Given the description of an element on the screen output the (x, y) to click on. 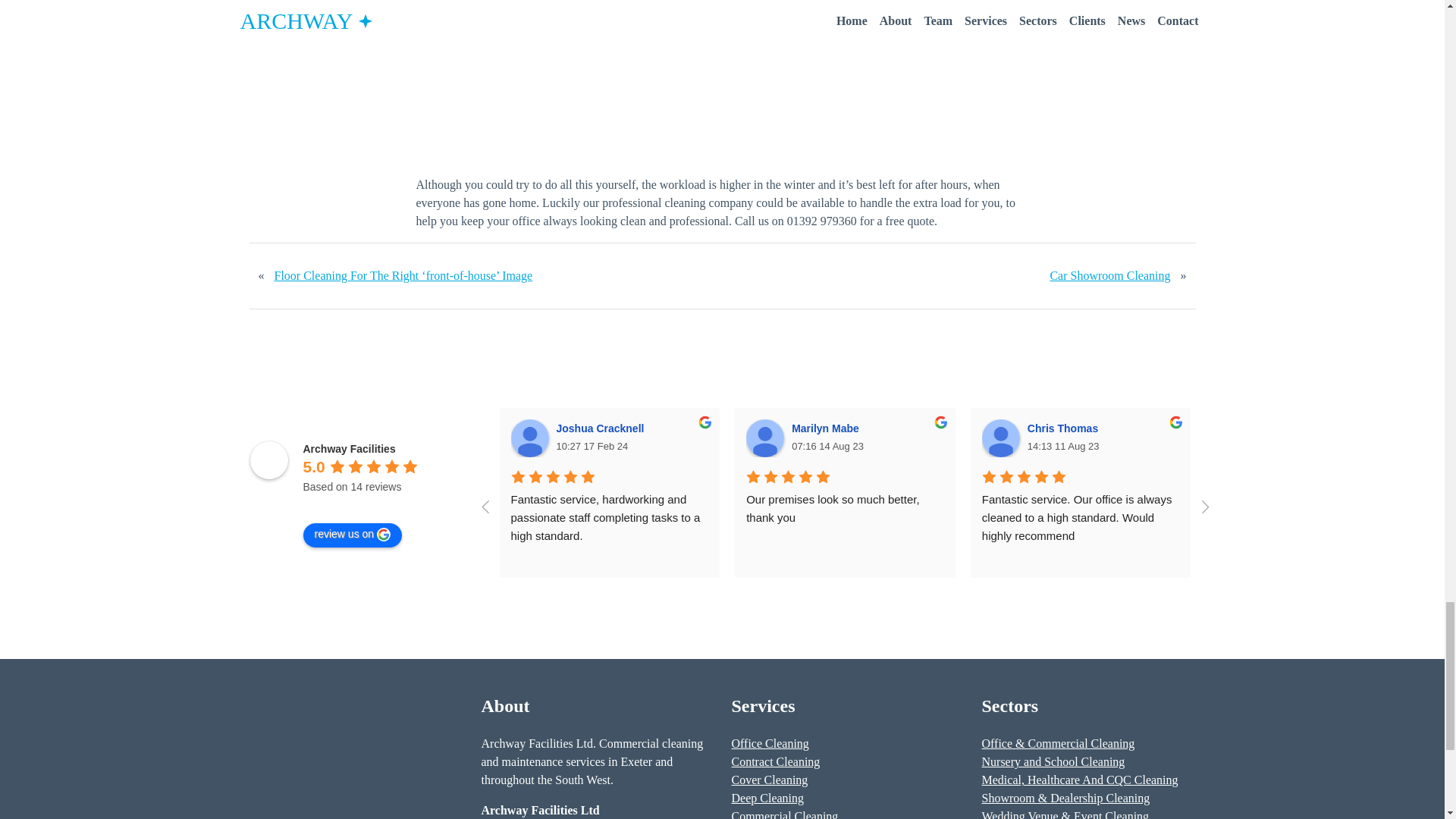
Chris Thomas (1000, 438)
Nursery and School Cleaning (1052, 761)
Joshua Cracknell (529, 438)
Archway Facilities (269, 460)
Chris Thomas (1064, 428)
Cover Cleaning (769, 779)
Marilyn Mabe (827, 428)
Commercial Cleaning (784, 814)
review us on (352, 535)
Marilyn Mabe (764, 438)
Archway Facilities (349, 449)
Contract Cleaning (774, 761)
Claire Williams (1302, 428)
Car Showroom Cleaning (1109, 275)
